Given the description of an element on the screen output the (x, y) to click on. 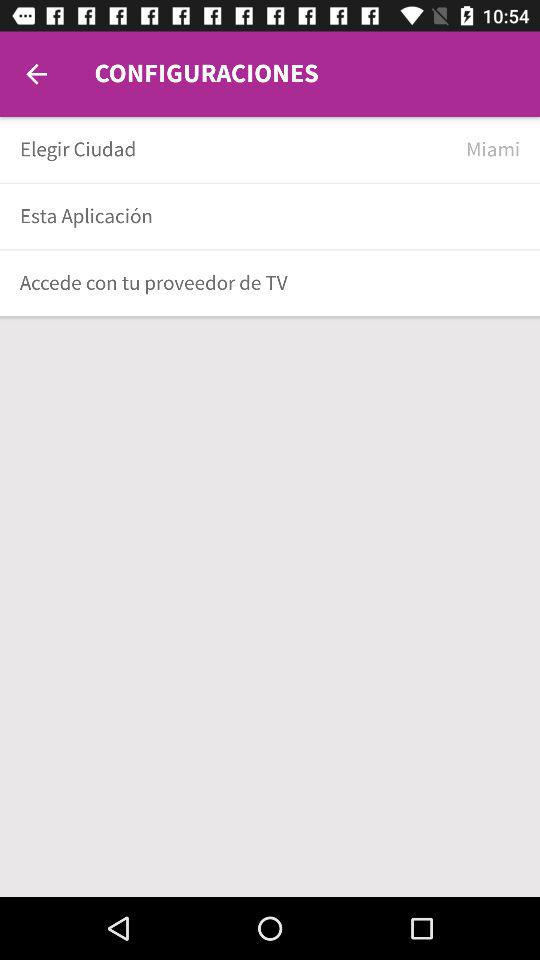
select the item to the left of miami icon (235, 149)
